Given the description of an element on the screen output the (x, y) to click on. 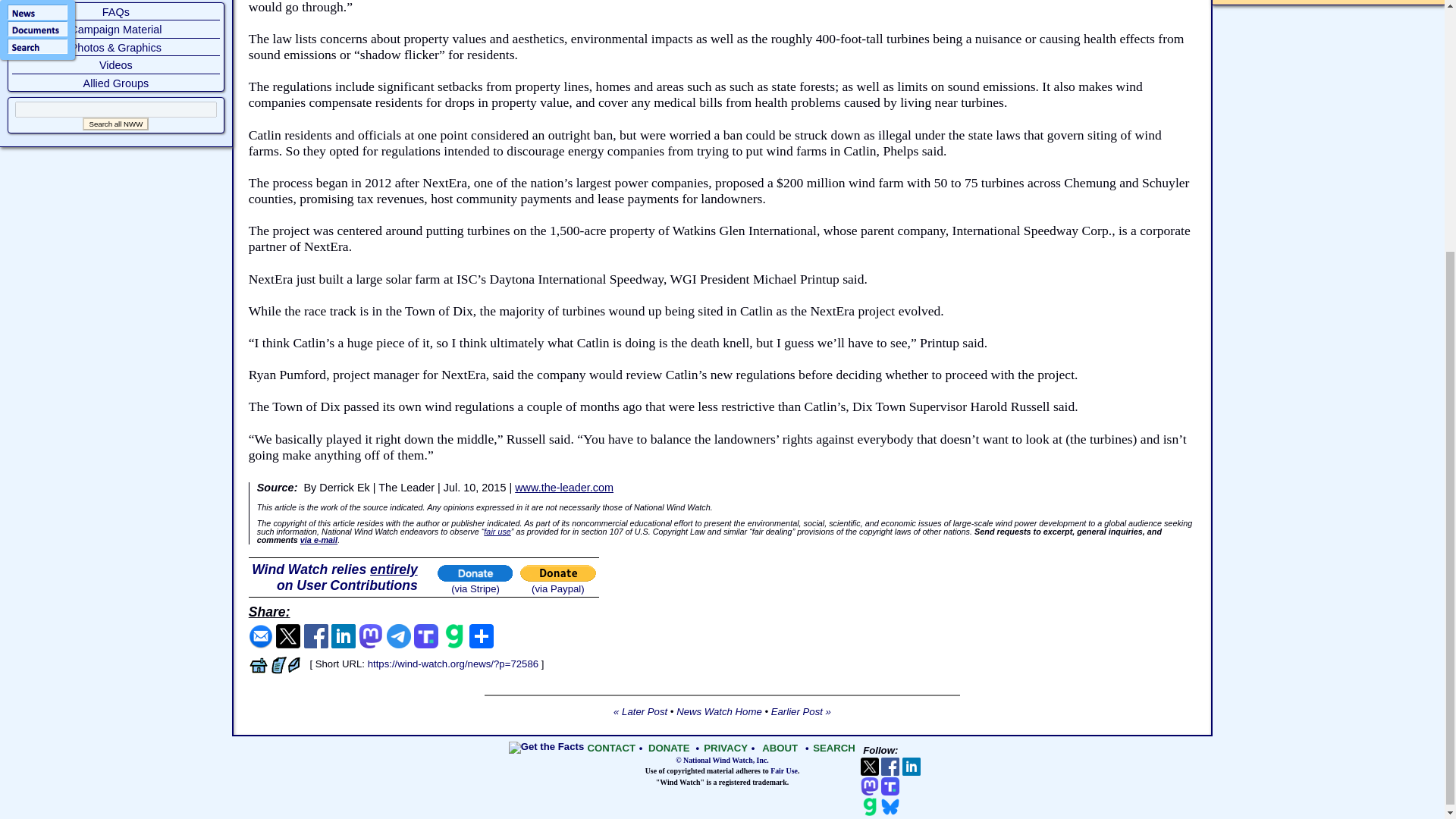
Allied Groups (115, 82)
Search all NWW (115, 123)
Search all NWW (115, 123)
FAQs (115, 11)
Campaign Material (115, 29)
Search all NWW (115, 123)
Videos (115, 64)
Donation Options (334, 576)
